Given the description of an element on the screen output the (x, y) to click on. 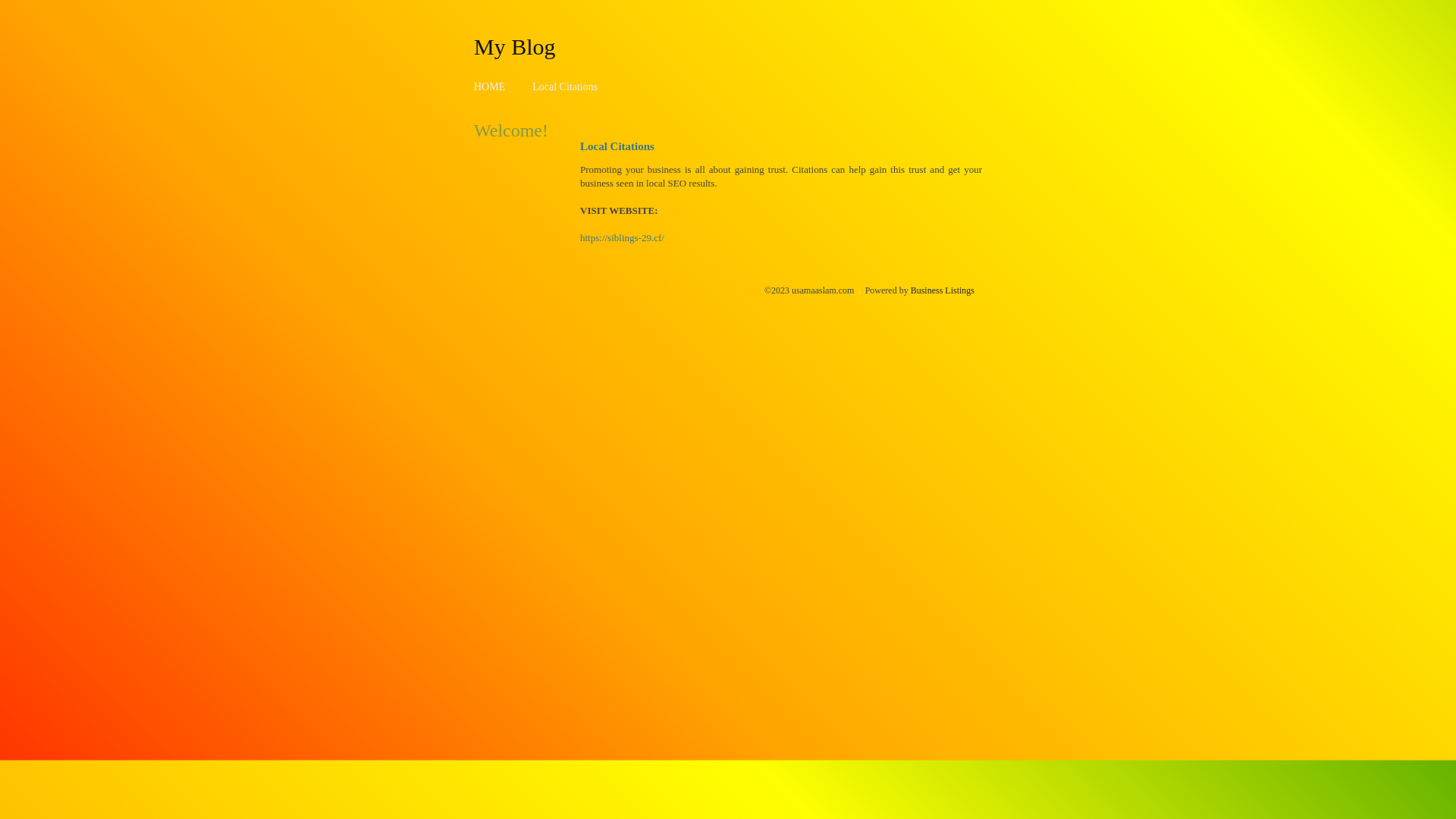
Local Citations Element type: text (564, 86)
HOME Element type: text (489, 86)
Business Listings Element type: text (942, 290)
https://siblings-29.cf/ Element type: text (622, 237)
My Blog Element type: text (514, 46)
